Given the description of an element on the screen output the (x, y) to click on. 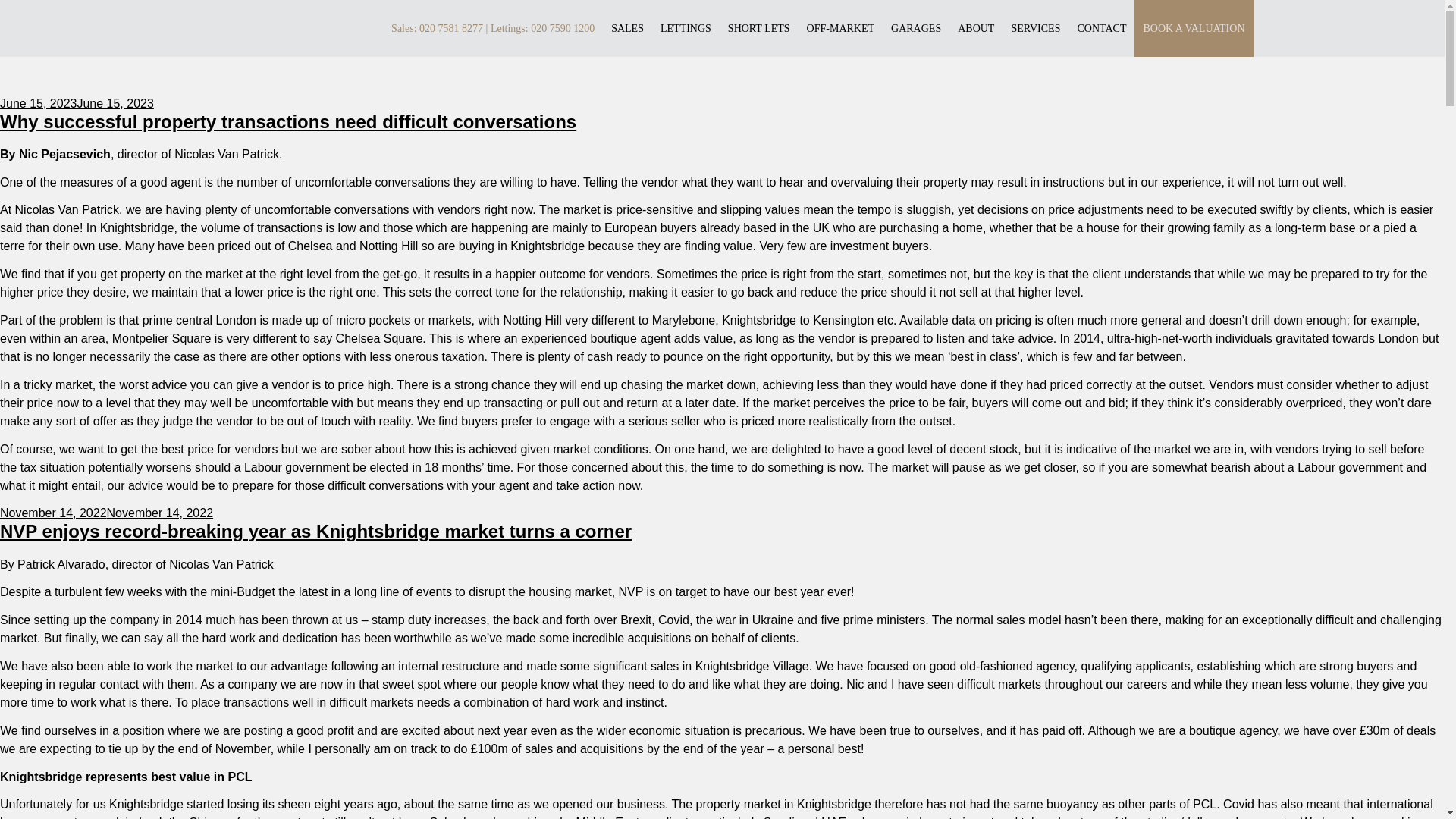
ABOUT (976, 27)
SHORT LETS (759, 27)
OFF-MARKET (840, 27)
SALES (627, 27)
LETTINGS (686, 27)
CONTACT (1101, 27)
BOOK A VALUATION (1193, 27)
SERVICES (1034, 27)
GARAGES (915, 27)
